Given the description of an element on the screen output the (x, y) to click on. 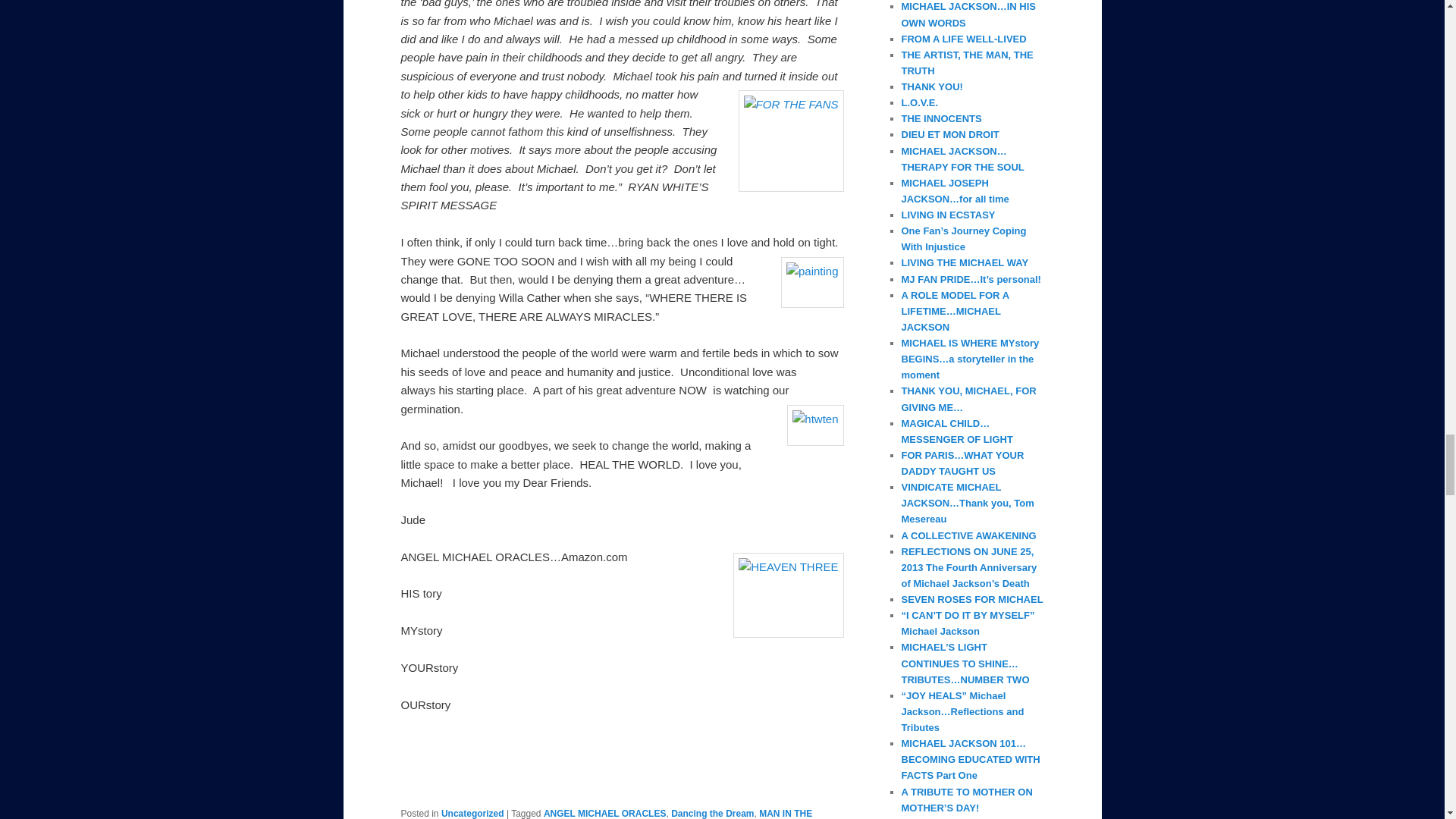
MAN IN THE MUSIC CLINTON INAUGURAL 1993 (606, 813)
ANGEL MICHAEL ORACLES (604, 813)
Uncategorized (472, 813)
Dancing the Dream (712, 813)
